Given the description of an element on the screen output the (x, y) to click on. 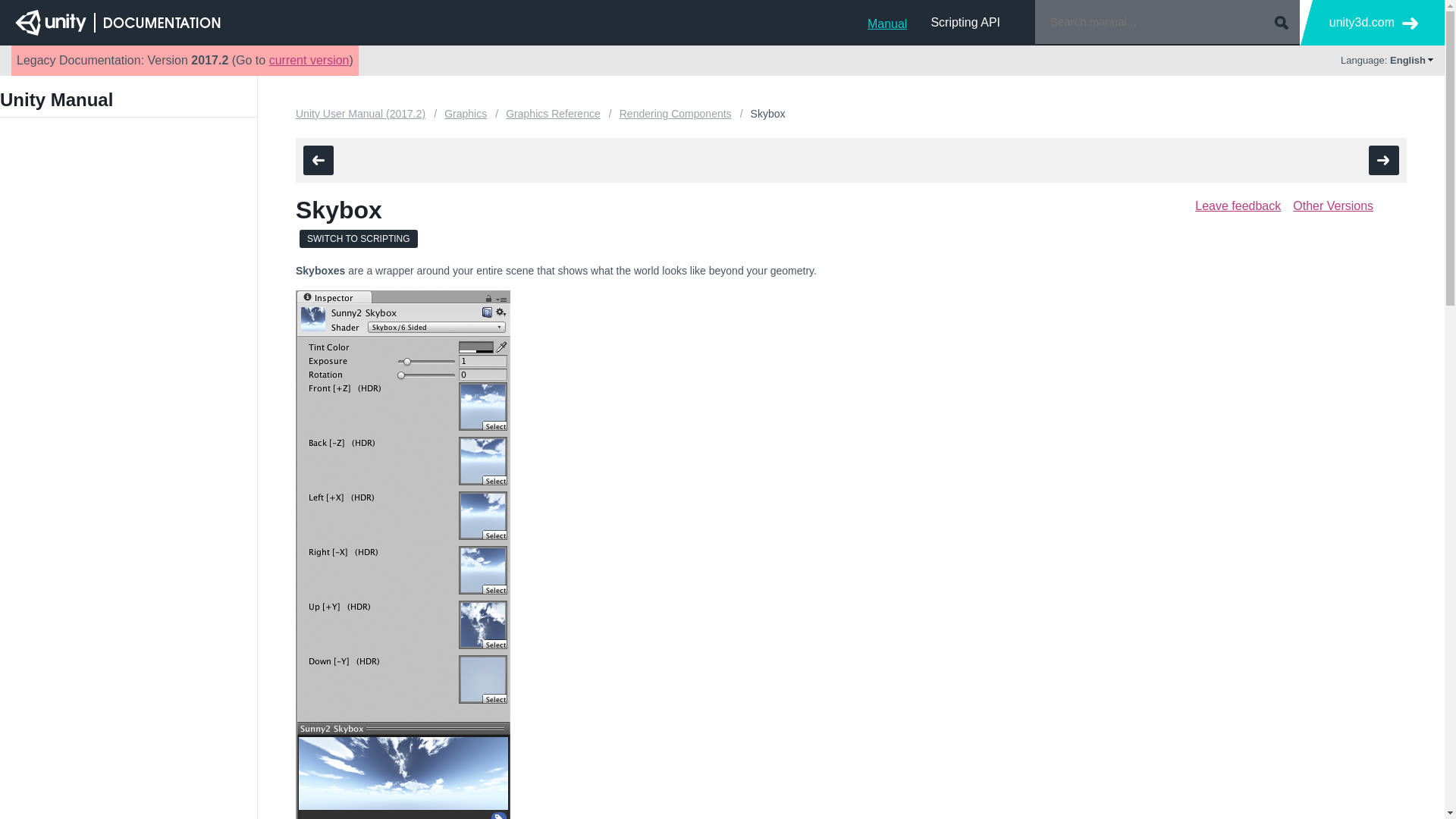
Go to Skybox page in the Scripting Reference (358, 239)
unity3d.com (1373, 22)
Leave feedback (1238, 205)
Graphics (465, 114)
Rendering Components (676, 114)
Scripting API (965, 22)
Graphics Reference (552, 114)
Manual (887, 22)
Leave feedback (1238, 206)
current version (309, 60)
SWITCH TO SCRIPTING (358, 239)
Other Versions (1332, 205)
